Given the description of an element on the screen output the (x, y) to click on. 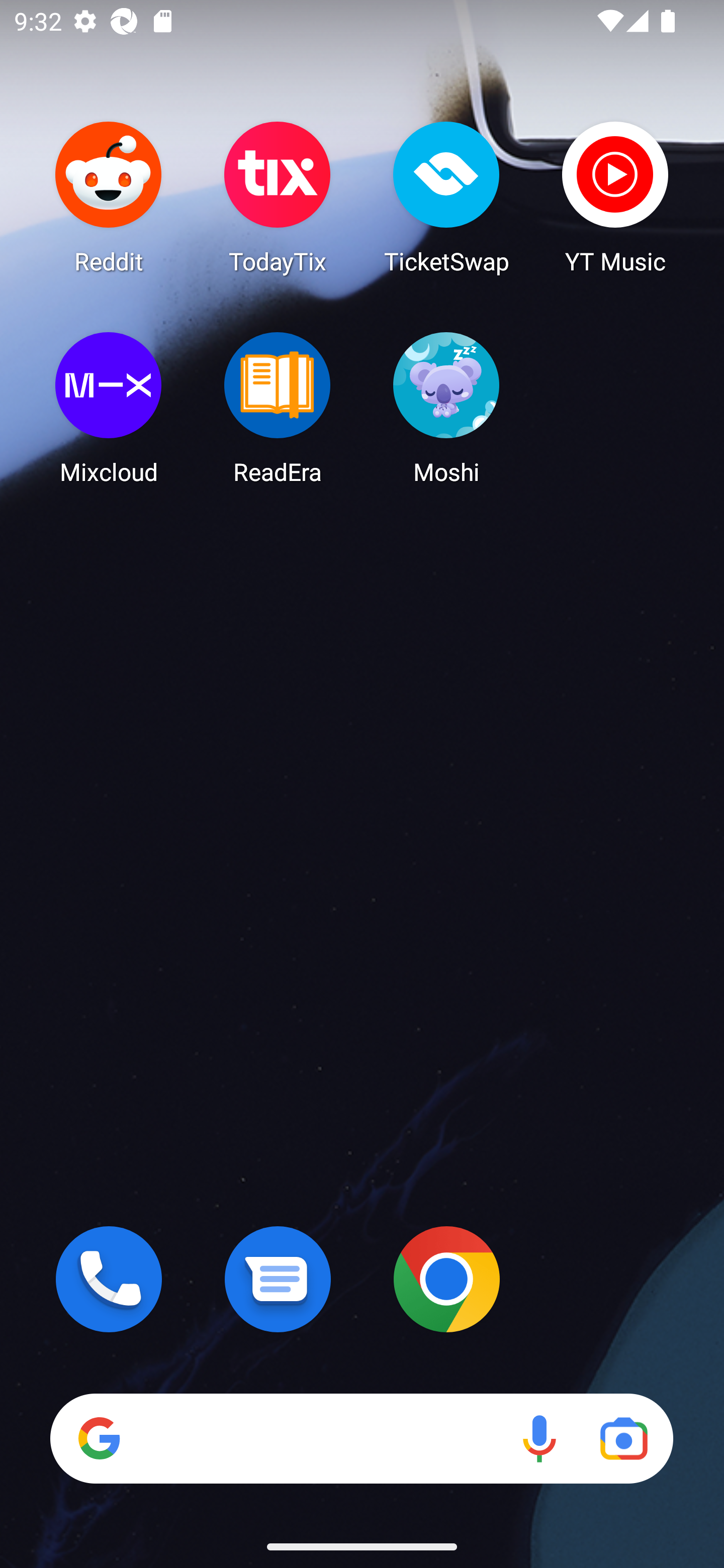
Reddit (108, 196)
TodayTix (277, 196)
TicketSwap (445, 196)
YT Music (615, 196)
Mixcloud (108, 407)
ReadEra (277, 407)
Moshi (445, 407)
Phone (108, 1279)
Messages (277, 1279)
Chrome (446, 1279)
Voice search (539, 1438)
Google Lens (623, 1438)
